Given the description of an element on the screen output the (x, y) to click on. 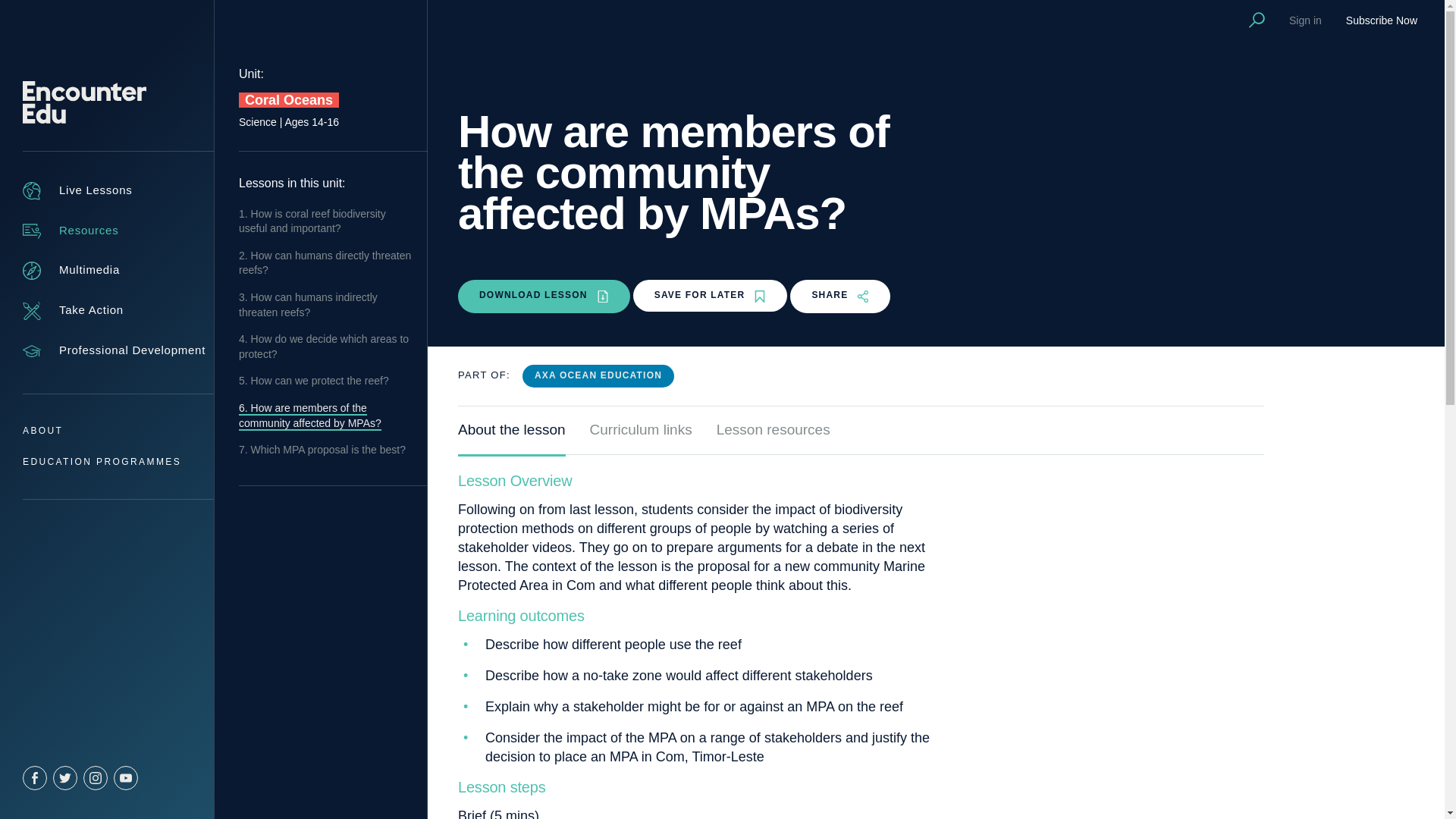
Multimedia (71, 270)
6. How are members of the community affected by MPAs? (309, 416)
1. How is coral reef biodiversity useful and important? (311, 221)
AXA OCEAN EDUCATION (598, 375)
EDUCATION PROGRAMMES (101, 461)
Curriculum links (641, 438)
DOWNLOAD LESSON (544, 296)
Live Lessons (77, 190)
ABOUT (42, 430)
SAVE FOR LATER (710, 296)
